Given the description of an element on the screen output the (x, y) to click on. 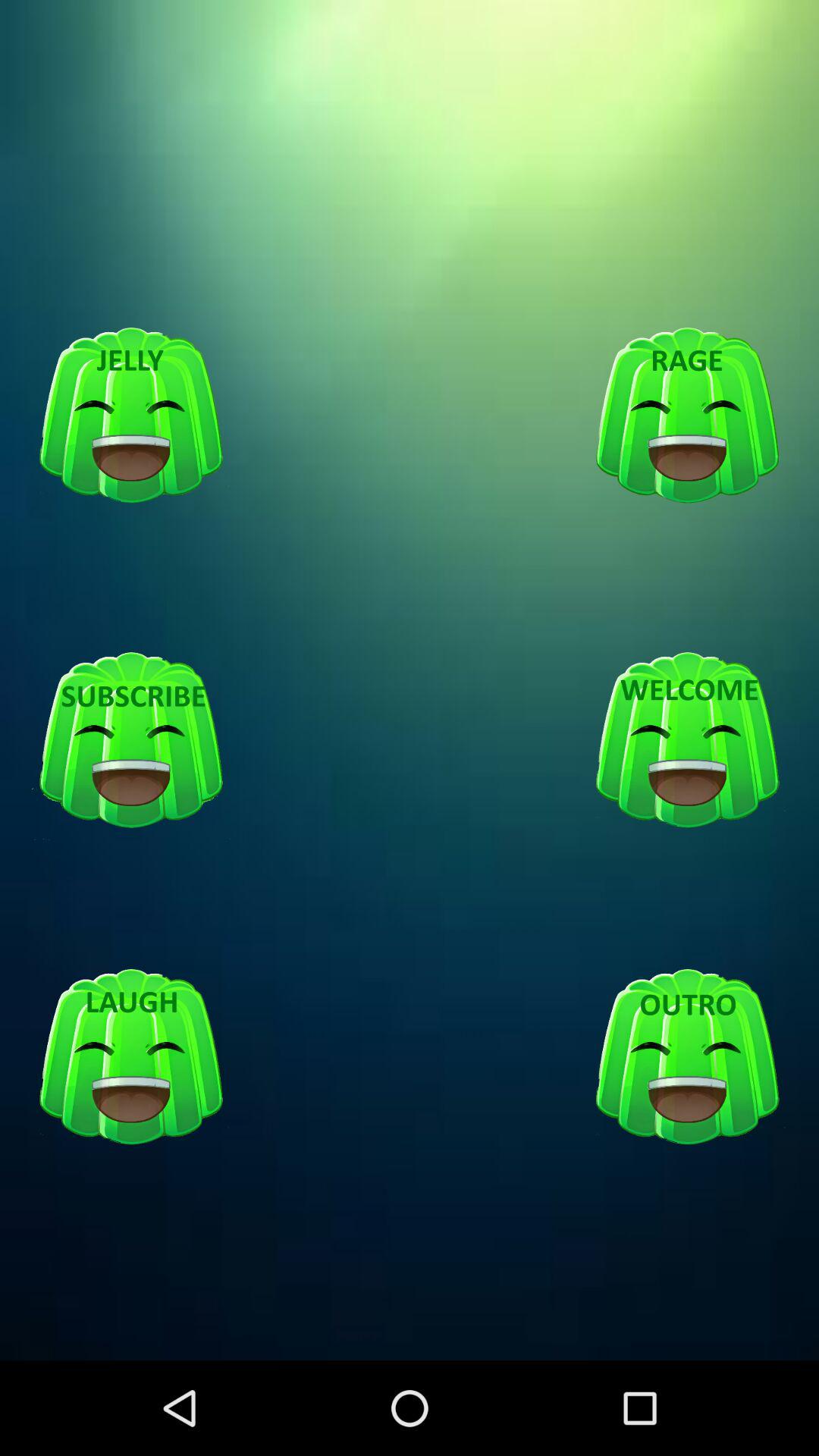
subscribe button (130, 740)
